Given the description of an element on the screen output the (x, y) to click on. 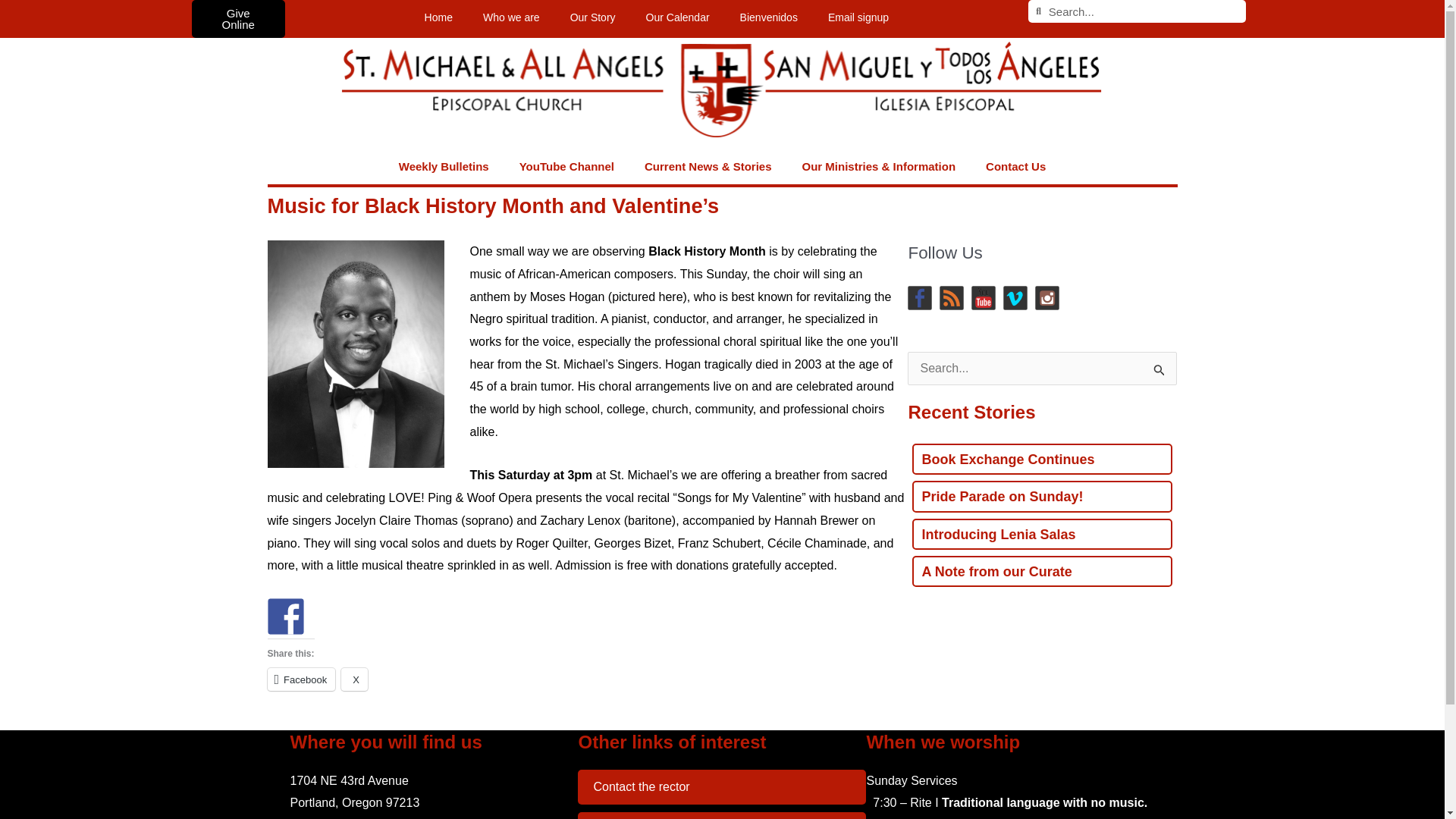
Give Online (236, 18)
Our Story (592, 17)
Home (438, 17)
YouTube Channel (565, 166)
Click to share on X (354, 679)
Bienvenidos (768, 17)
Email signup (858, 17)
Weekly Bulletins (443, 166)
Subscribe to our RSS feed (951, 297)
Click to share on Facebook (300, 679)
